Given the description of an element on the screen output the (x, y) to click on. 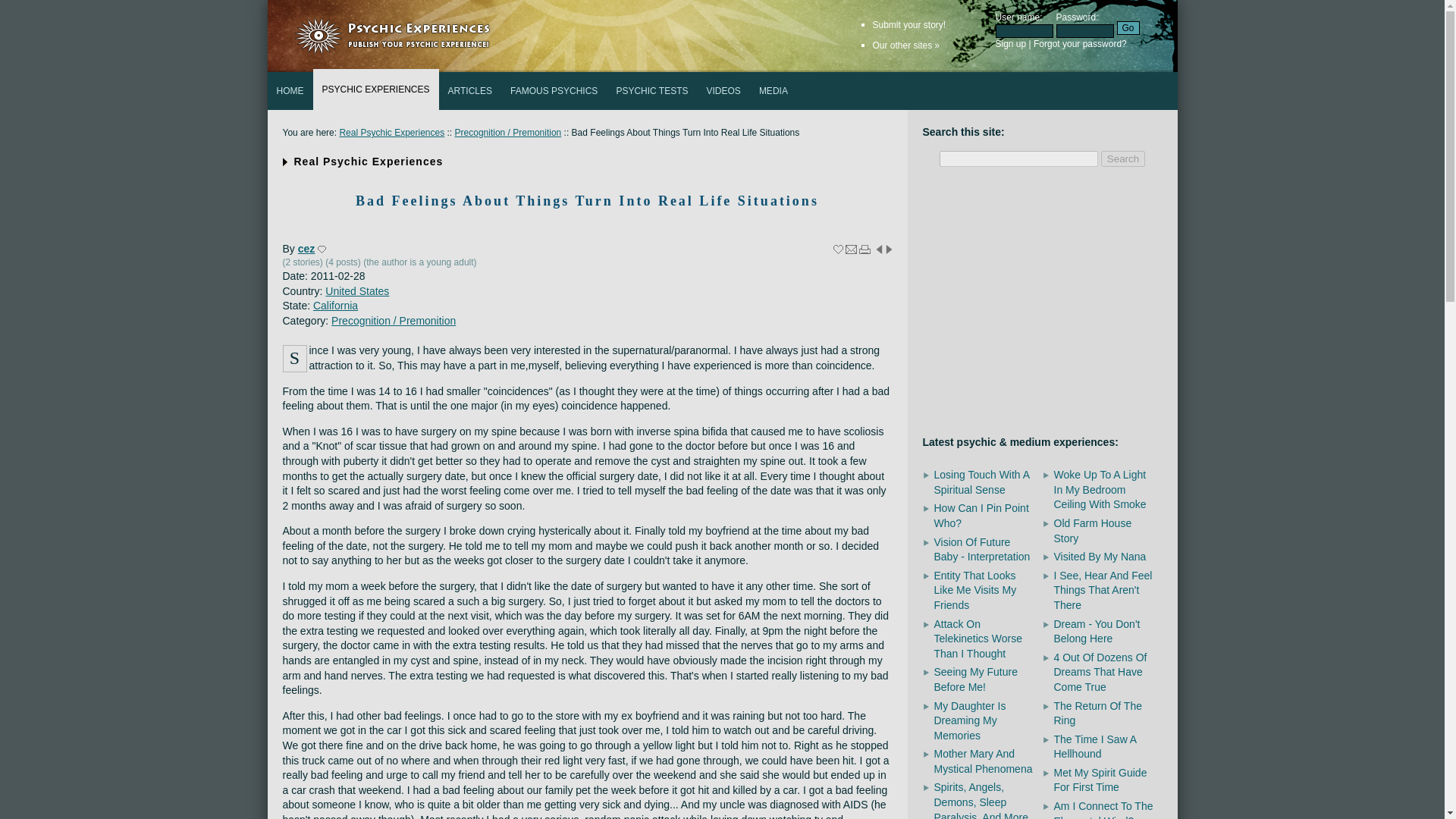
Add cez to your favorite people (321, 248)
PSYCHIC EXPERIENCES (375, 88)
Advertisement (1041, 303)
Add to your favorite stories (837, 248)
VIDEOS (723, 90)
Add to your favorite stories (837, 248)
MEDIA (772, 90)
United States (356, 291)
Send this story to a friend (851, 248)
Print this story (864, 248)
California (335, 305)
FAMOUS PSYCHICS (553, 90)
Go (1127, 28)
Send this story to a friend (851, 248)
ARTICLES (469, 90)
